Given the description of an element on the screen output the (x, y) to click on. 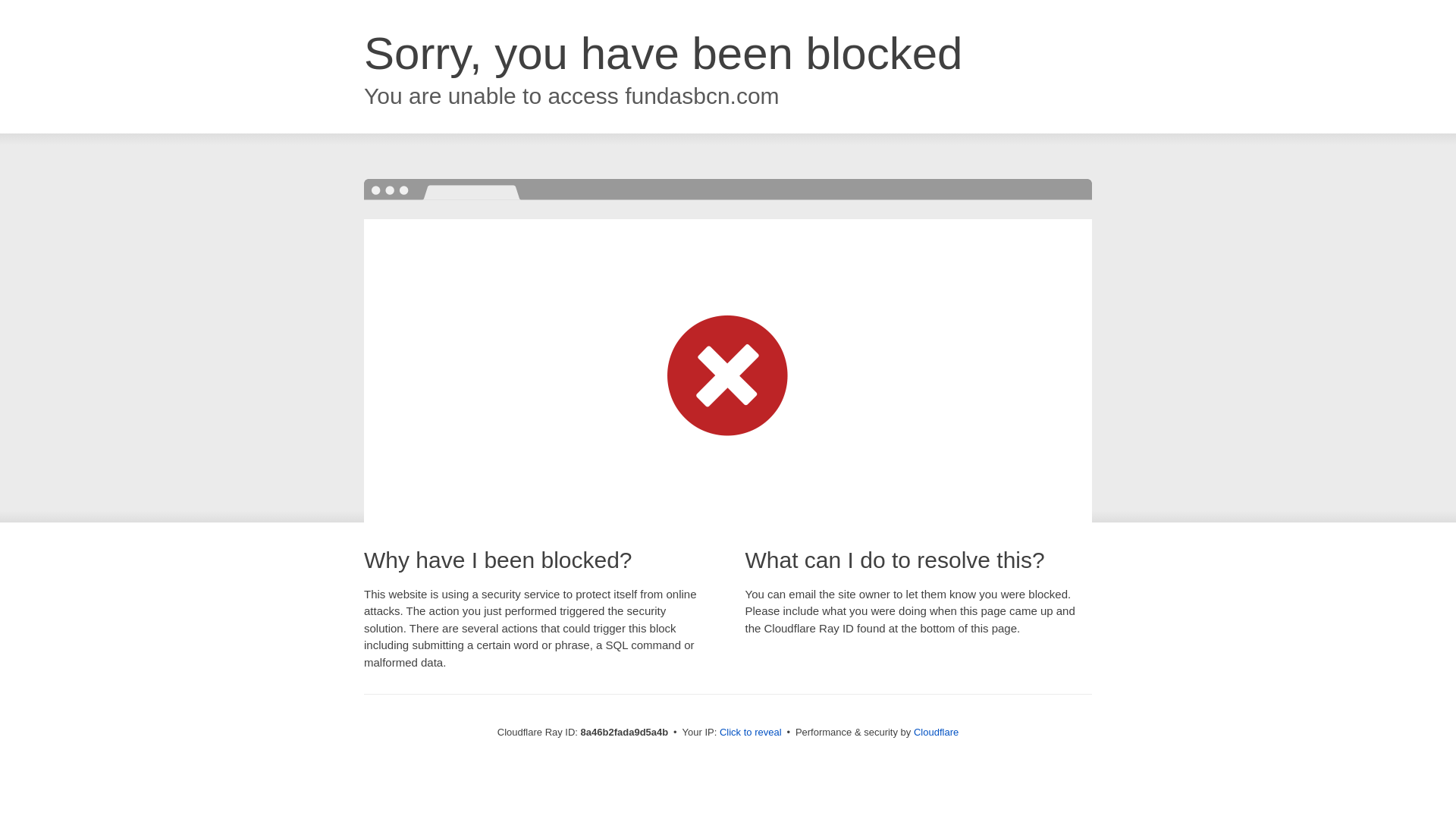
Click to reveal (750, 732)
Cloudflare (936, 731)
